Given the description of an element on the screen output the (x, y) to click on. 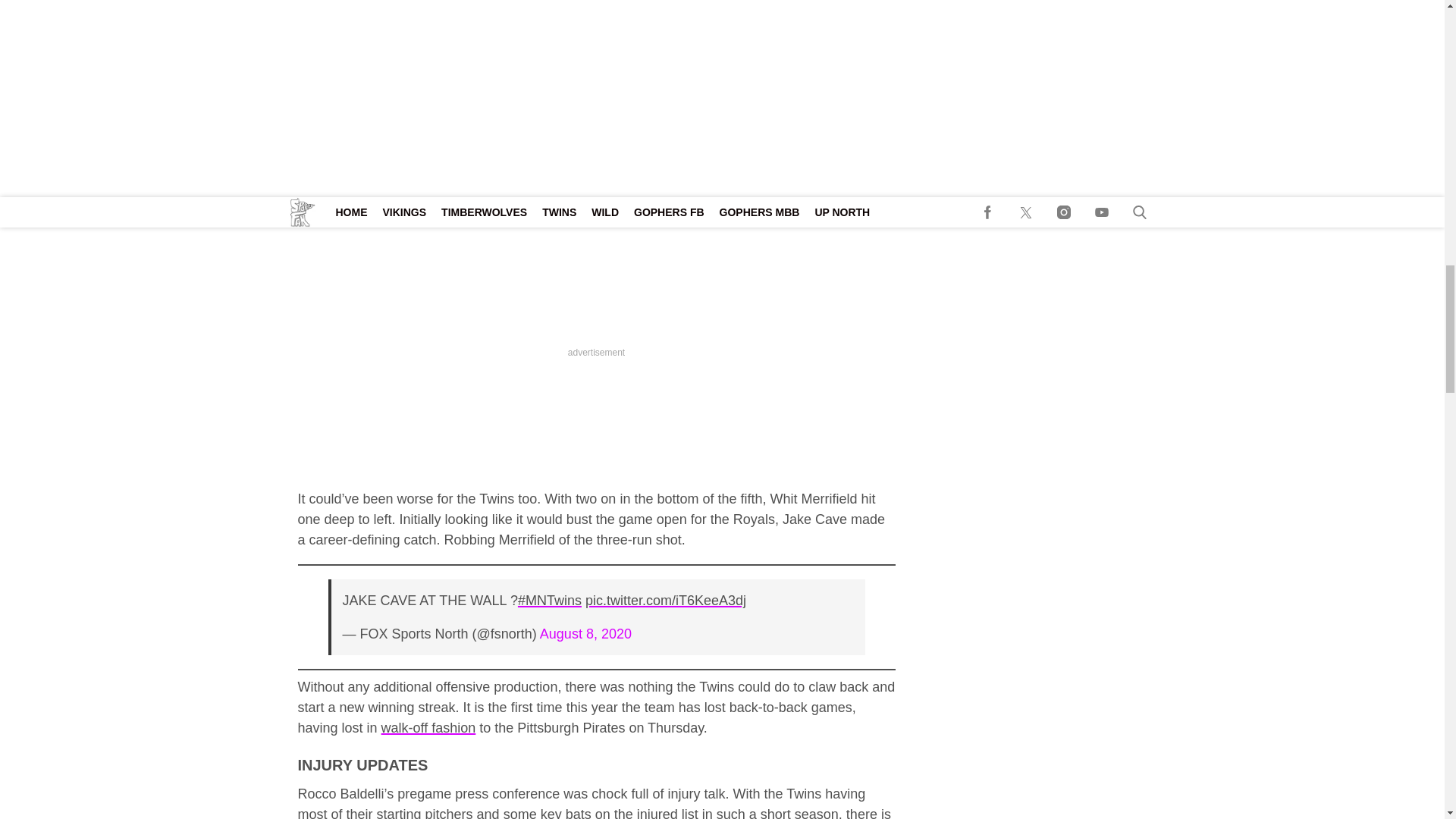
walk-off fashion (428, 727)
August 8, 2020 (585, 96)
August 8, 2020 (585, 633)
